Given the description of an element on the screen output the (x, y) to click on. 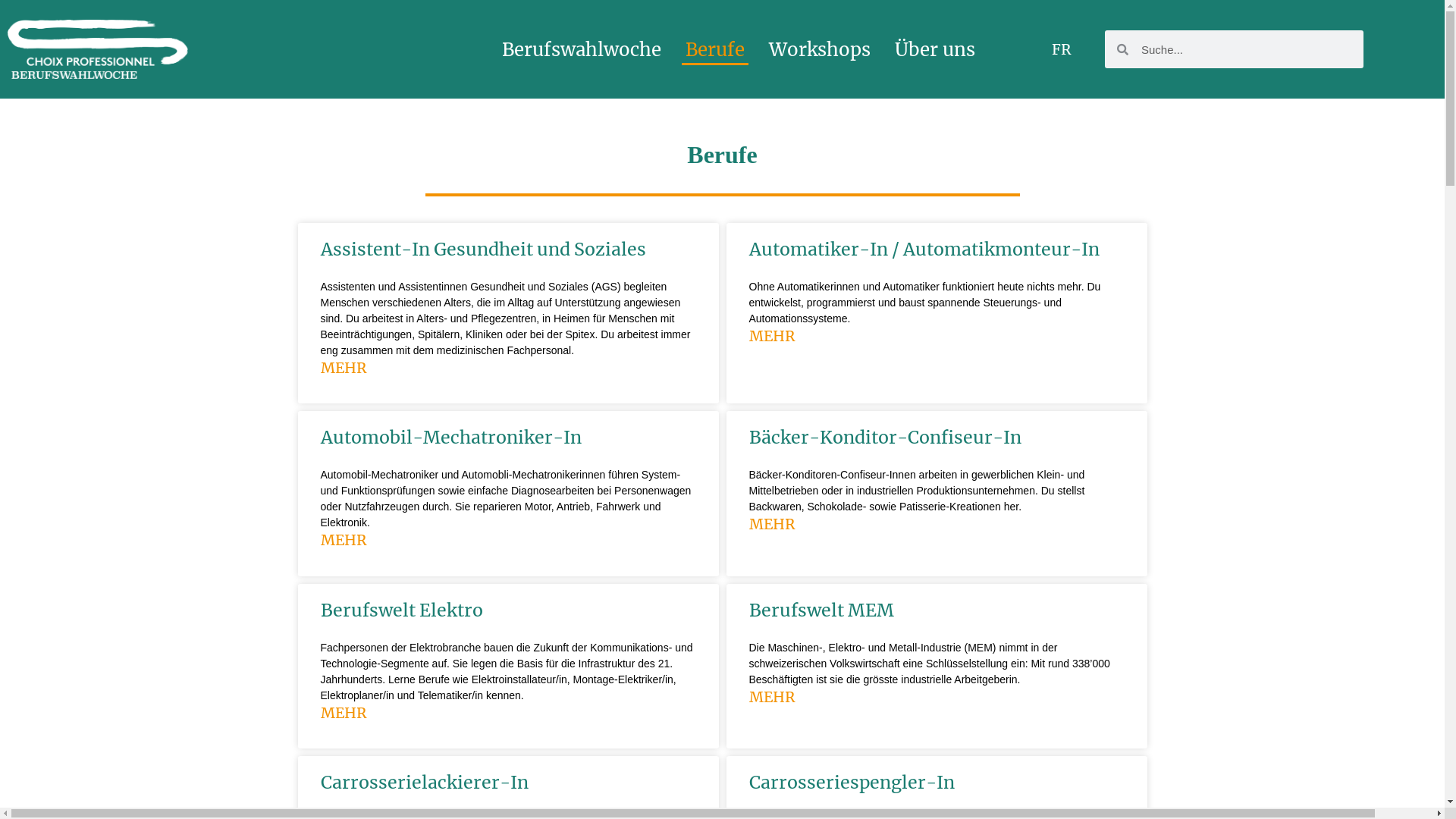
FR Element type: text (1061, 49)
MEHR Element type: text (343, 539)
Berufswelt Elektro Element type: text (401, 610)
Berufswahlwoche Element type: text (581, 49)
MEHR Element type: text (772, 335)
Berufe Element type: text (714, 49)
Automobil-Mechatroniker-In Element type: text (450, 437)
Assistent-In Gesundheit und Soziales Element type: text (482, 249)
Automatiker-In / Automatikmonteur-In Element type: text (924, 249)
MEHR Element type: text (772, 696)
Workshops Element type: text (819, 49)
MEHR Element type: text (343, 367)
Berufswelt MEM Element type: text (821, 610)
Carrosserielackierer-In Element type: text (423, 782)
Carrosseriespengler-In Element type: text (851, 782)
MEHR Element type: text (343, 712)
MEHR Element type: text (772, 523)
